Given the description of an element on the screen output the (x, y) to click on. 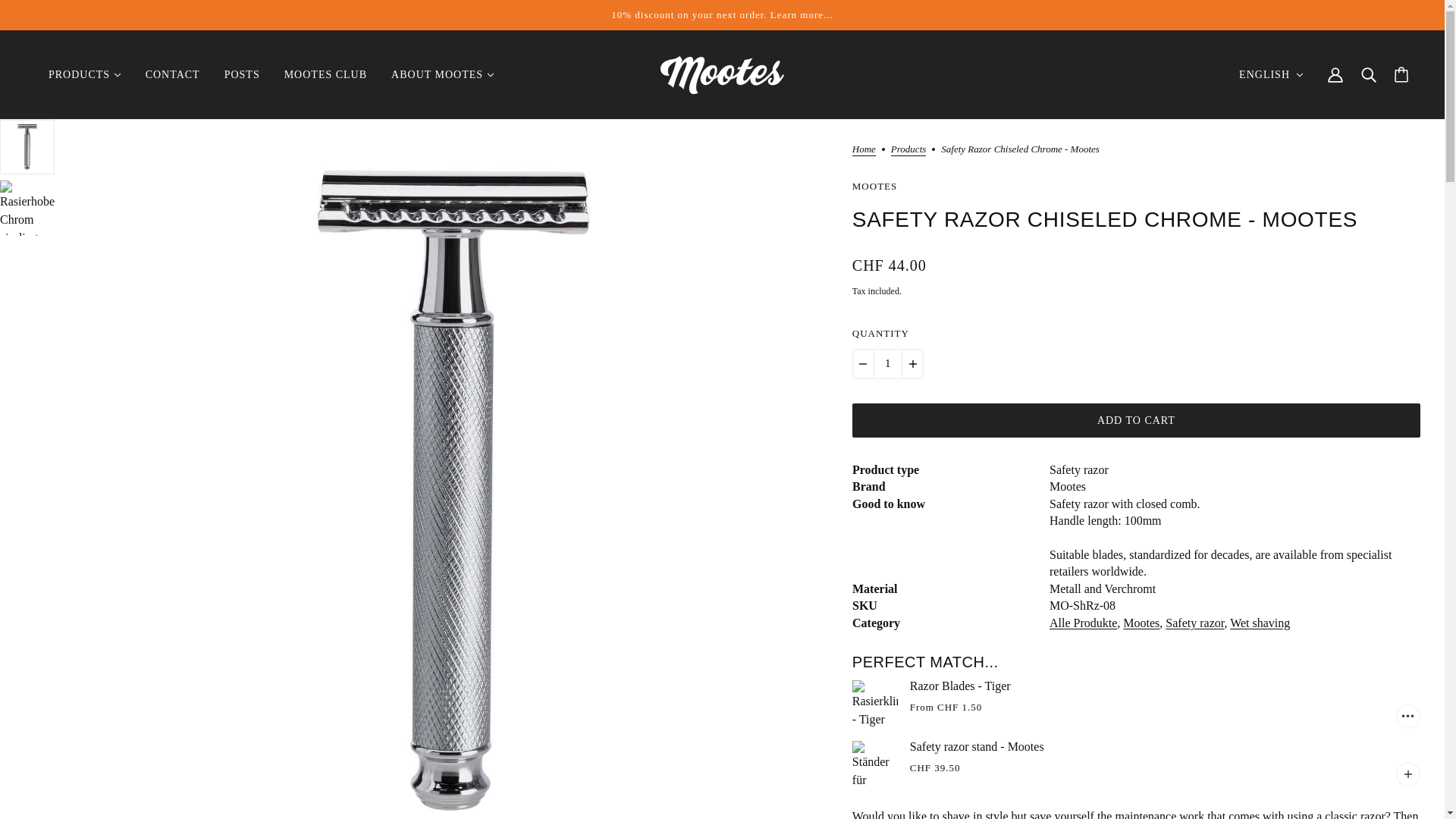
PRODUCTS  (84, 74)
Mootes (722, 75)
1 (887, 363)
